Given the description of an element on the screen output the (x, y) to click on. 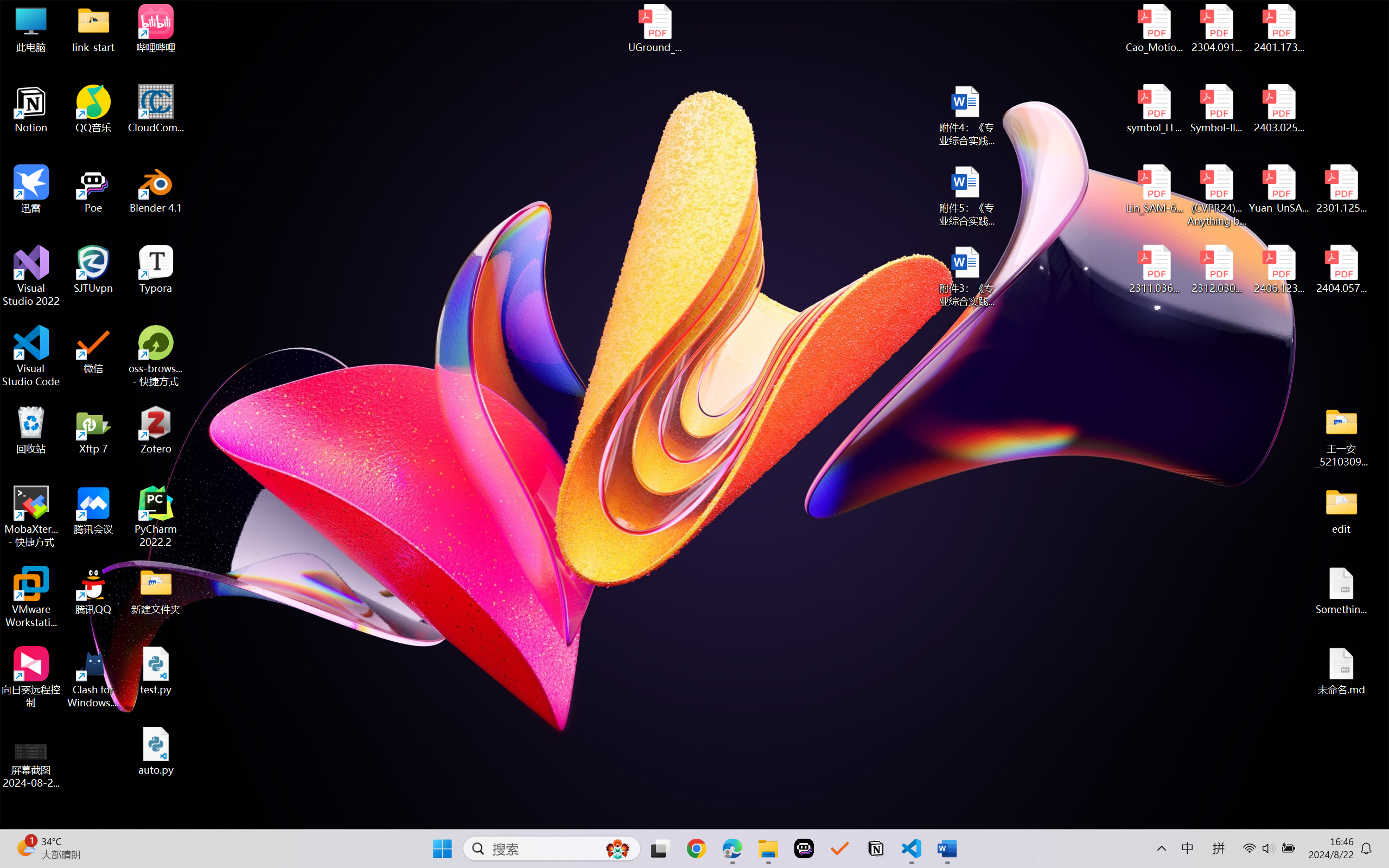
UGround_paper.pdf (654, 28)
edit (1340, 510)
Something.md (1340, 591)
(CVPR24)Matching Anything by Segmenting Anything.pdf (1216, 195)
